Given the description of an element on the screen output the (x, y) to click on. 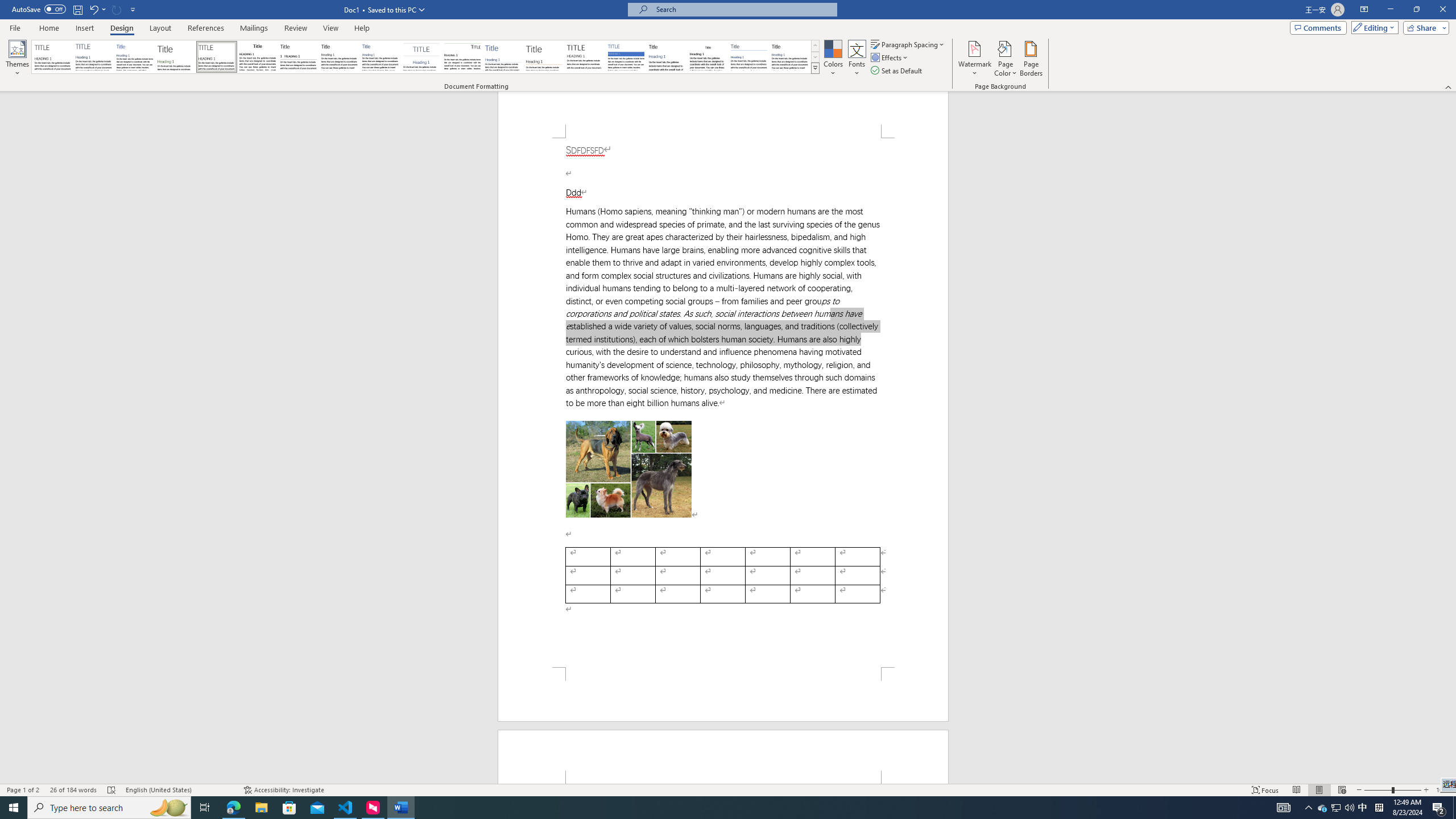
Class: NetUIScrollBar (1450, 437)
Effects (890, 56)
Lines (Stylish) (544, 56)
Undo Apply Quick Style Set (96, 9)
Word (666, 56)
Black & White (Word 2013) (338, 56)
Document (52, 56)
Class: MsoCommandBar (728, 789)
Black & White (Numbered) (298, 56)
